Given the description of an element on the screen output the (x, y) to click on. 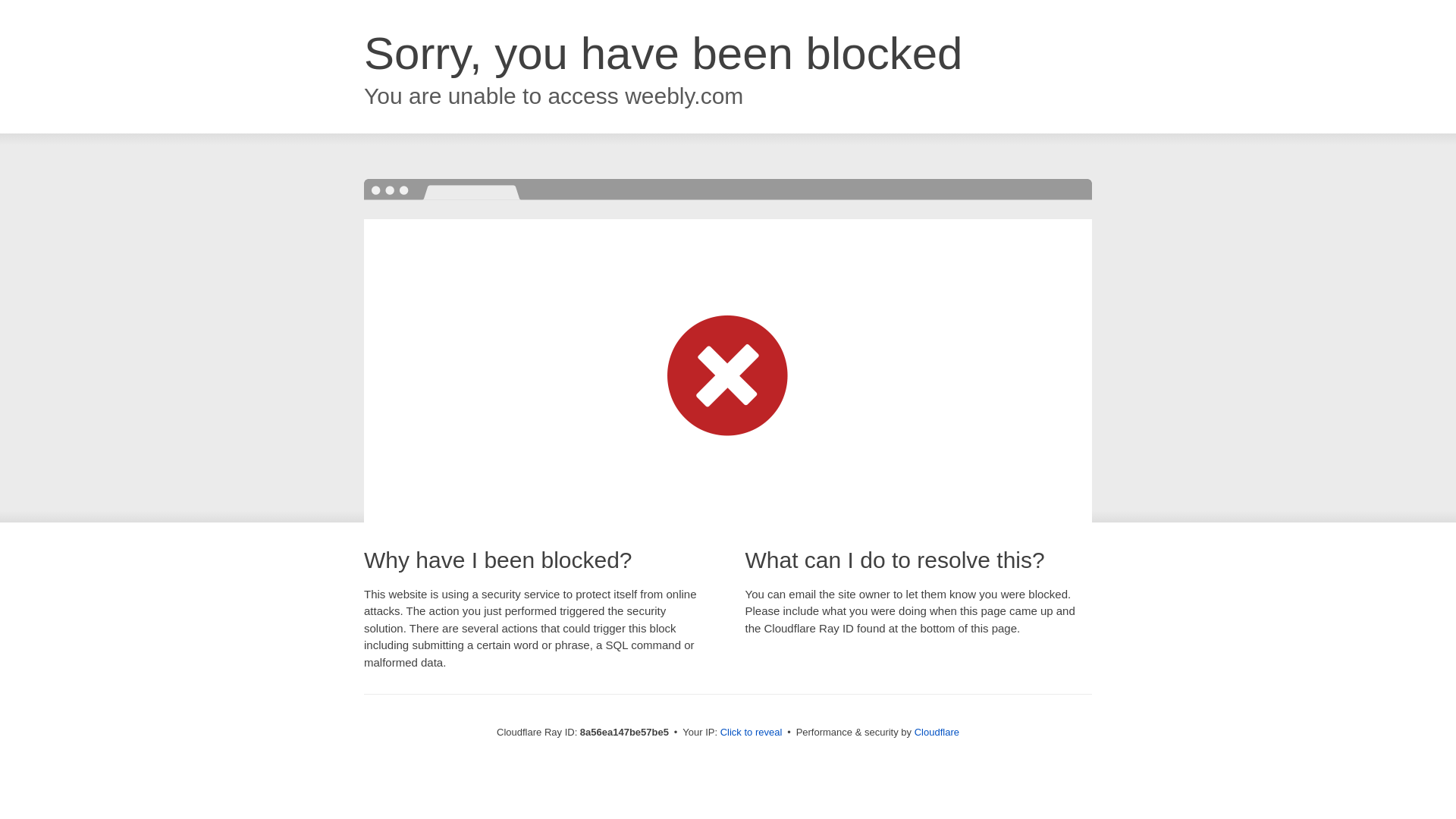
Cloudflare (936, 731)
Click to reveal (751, 732)
